Given the description of an element on the screen output the (x, y) to click on. 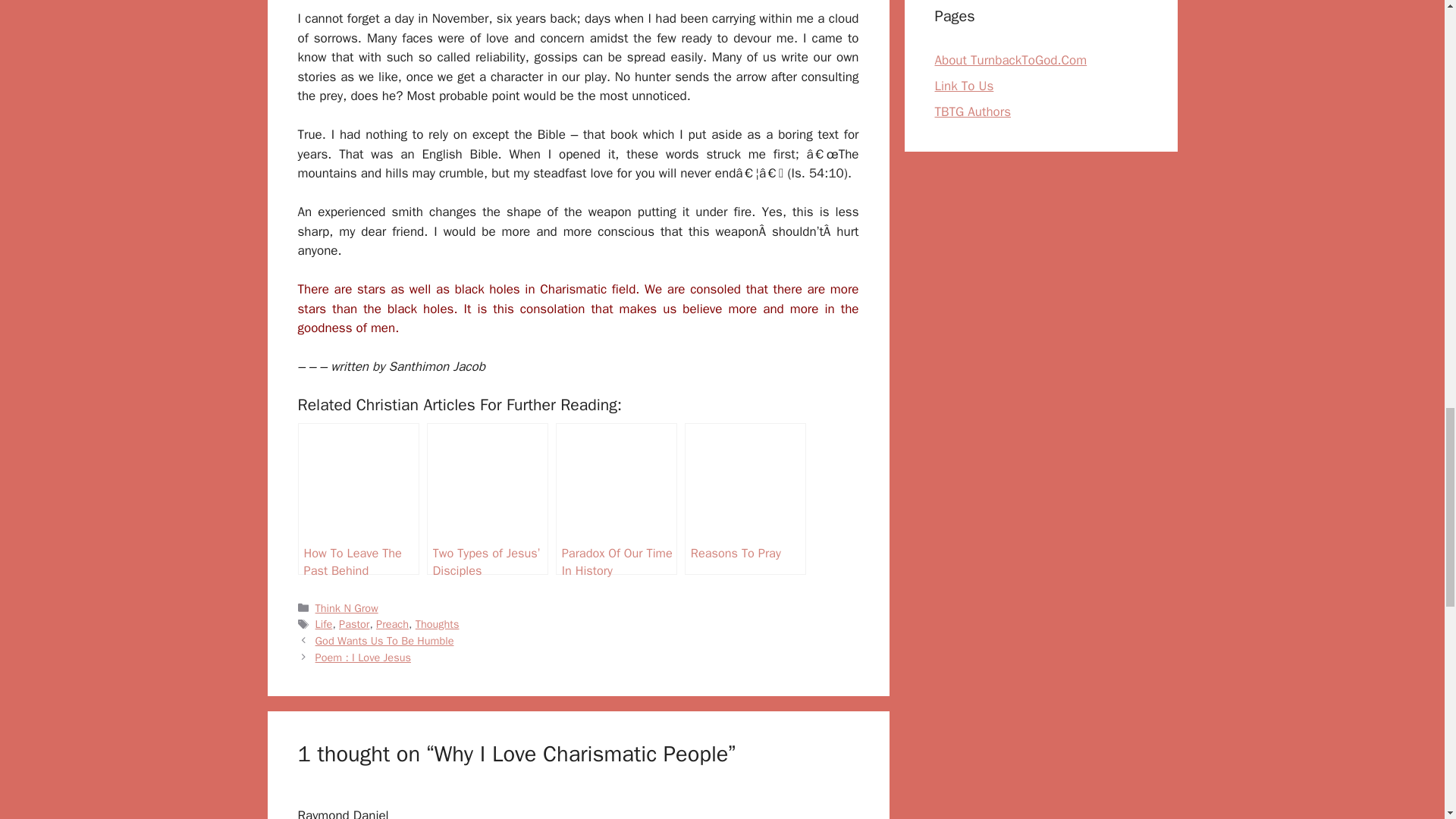
Life (324, 397)
Preach (392, 397)
Next (362, 429)
Pastor (354, 397)
Thoughts (437, 397)
Poem : I Love Jesus (362, 429)
February 1, 2013 at 5:22 pm (367, 605)
Previous (384, 413)
Think N Grow (346, 380)
God Wants Us To Be Humble (384, 413)
